Given the description of an element on the screen output the (x, y) to click on. 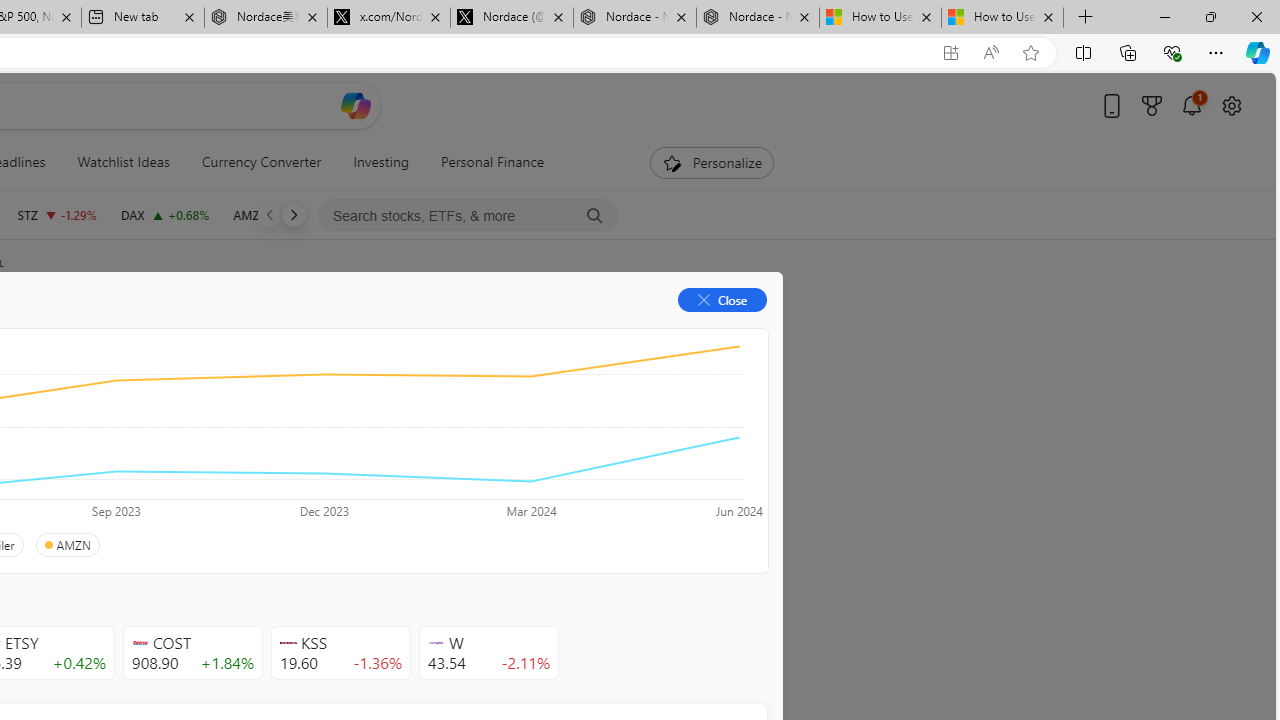
Close (1256, 16)
AMZN (66, 545)
Previous (269, 214)
Currency Converter (261, 162)
Watchlist Ideas (123, 162)
Notifications (1192, 105)
Open Copilot (355, 105)
Search stocks, ETFs, & more (468, 215)
Add this page to favorites (Ctrl+D) (1030, 53)
Leverage & Liquidity (95, 445)
Sentiment (595, 331)
Restore (1210, 16)
STZ CONSTELLATION BRANDS, INC. decrease 239.98 -3.13 -1.29% (56, 214)
DAX DAX increase 18,808.50 +126.69 +0.68% (164, 214)
Currency Converter (261, 162)
